Given the description of an element on the screen output the (x, y) to click on. 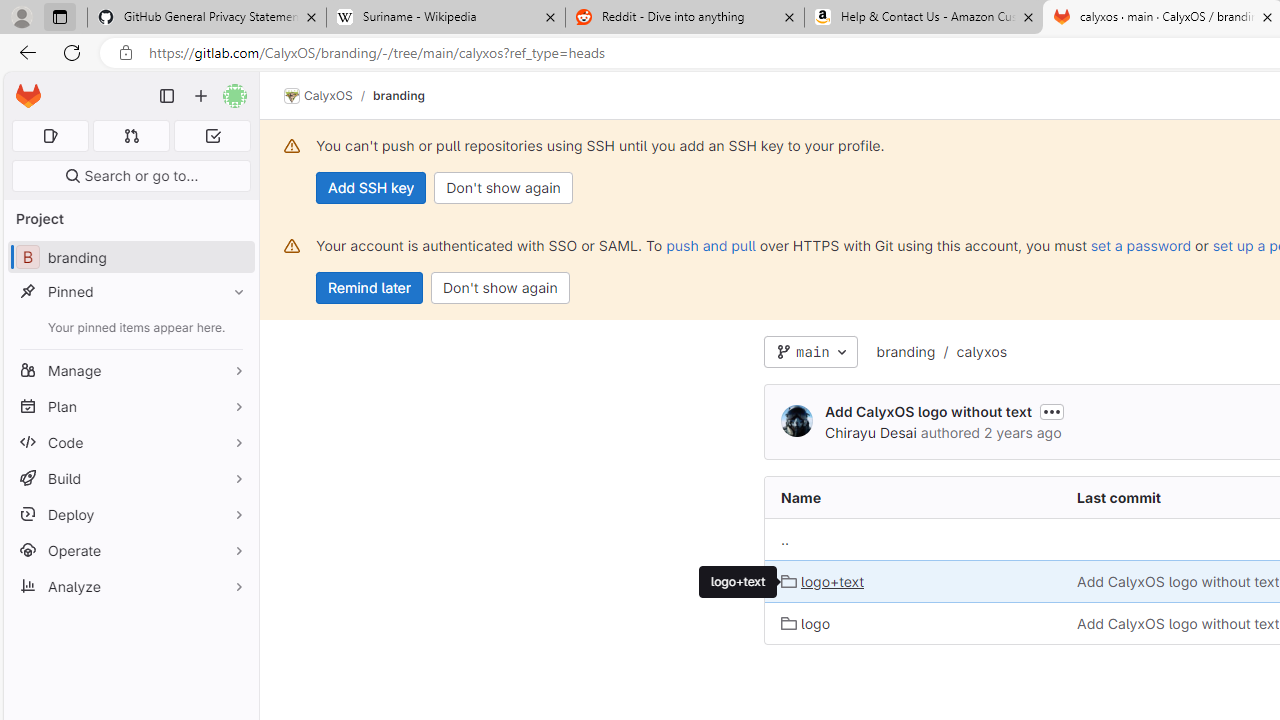
branding (905, 351)
logo+text (738, 581)
Class: s16 gl-alert-icon gl-alert-icon-no-title (291, 246)
GitHub General Privacy Statement - GitHub Docs (207, 17)
Pinned (130, 291)
To-Do list 0 (212, 136)
Code (130, 442)
Deploy (130, 514)
logo (913, 622)
/calyxos (971, 351)
Suriname - Wikipedia (445, 17)
Bbranding (130, 257)
Homepage (27, 96)
